Given the description of an element on the screen output the (x, y) to click on. 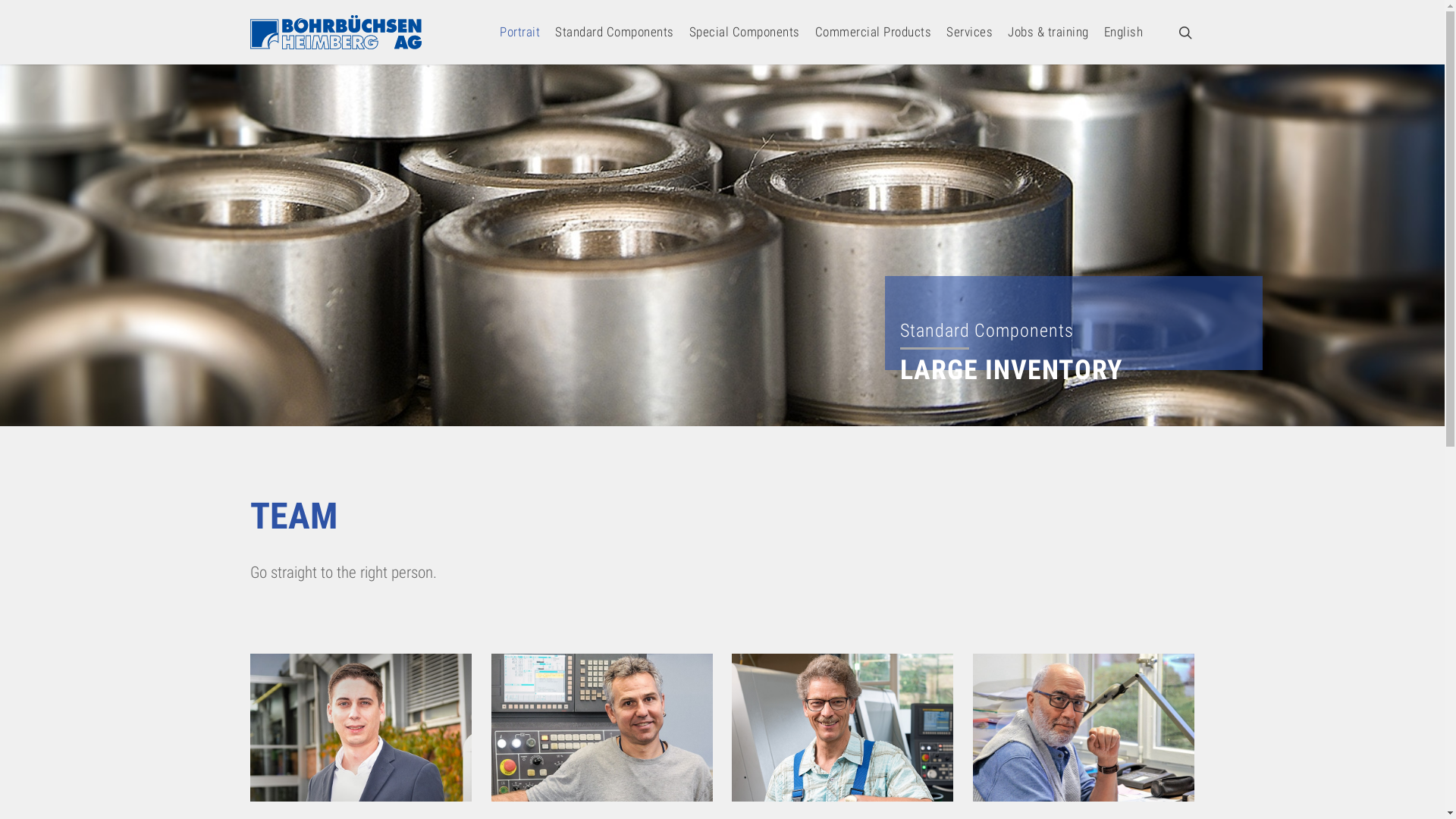
Stefan Werner Element type: hover (601, 727)
Services Element type: text (969, 31)
search Element type: text (1185, 31)
Max Burkhalter Element type: hover (1083, 727)
Jobs & training Element type: text (1048, 31)
Peter Reber Element type: hover (360, 727)
Special Components Element type: text (743, 31)
Commercial Products Element type: text (872, 31)
Standard Components Element type: text (614, 31)
David Willen Element type: hover (842, 727)
English Element type: text (1123, 31)
Portrait Element type: text (519, 31)
